Given the description of an element on the screen output the (x, y) to click on. 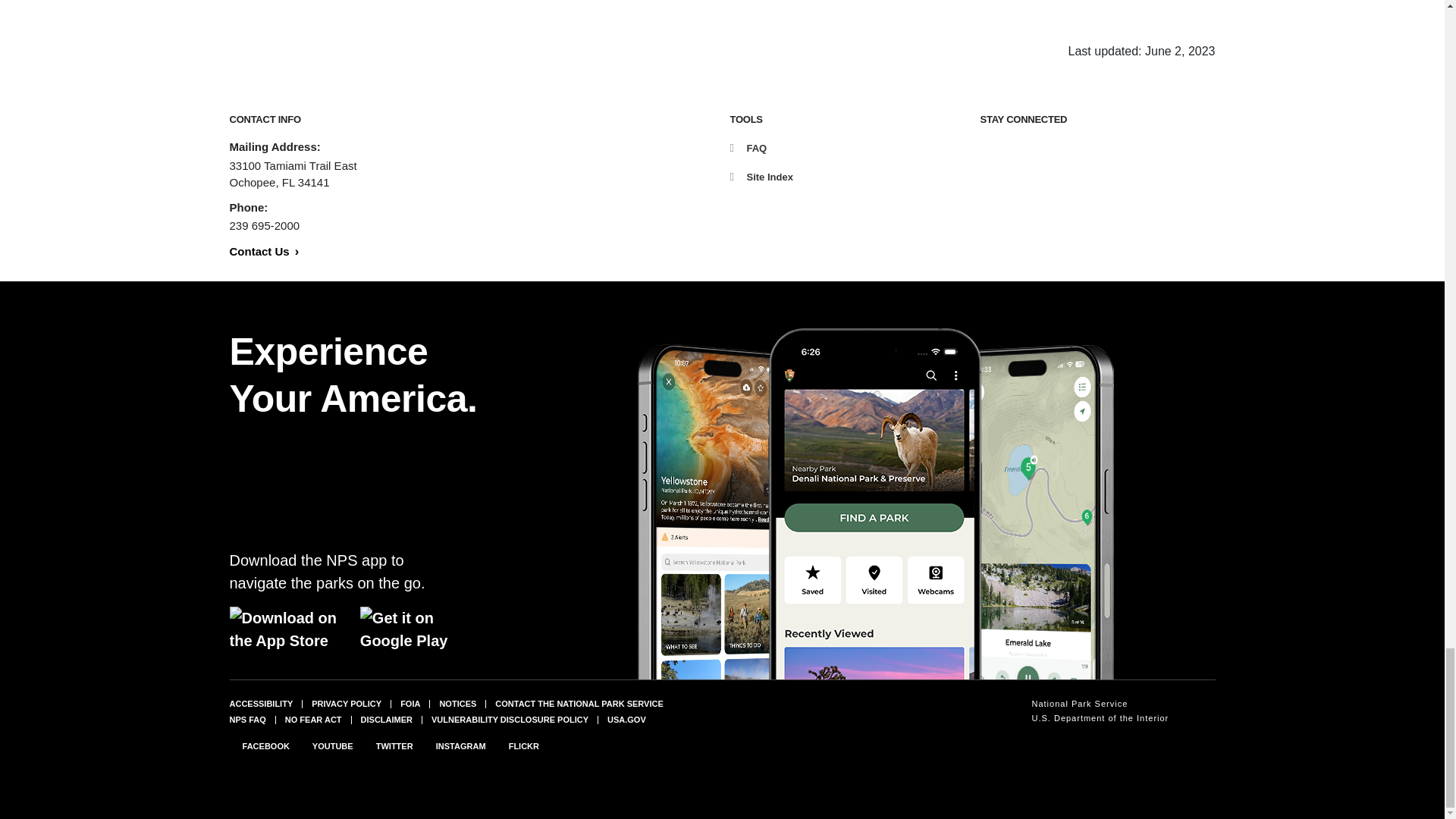
National Park Service frequently asked questions (246, 718)
National Park Service (1099, 703)
FAQ (748, 147)
Contact Us (263, 250)
Site Index (760, 176)
